Given the description of an element on the screen output the (x, y) to click on. 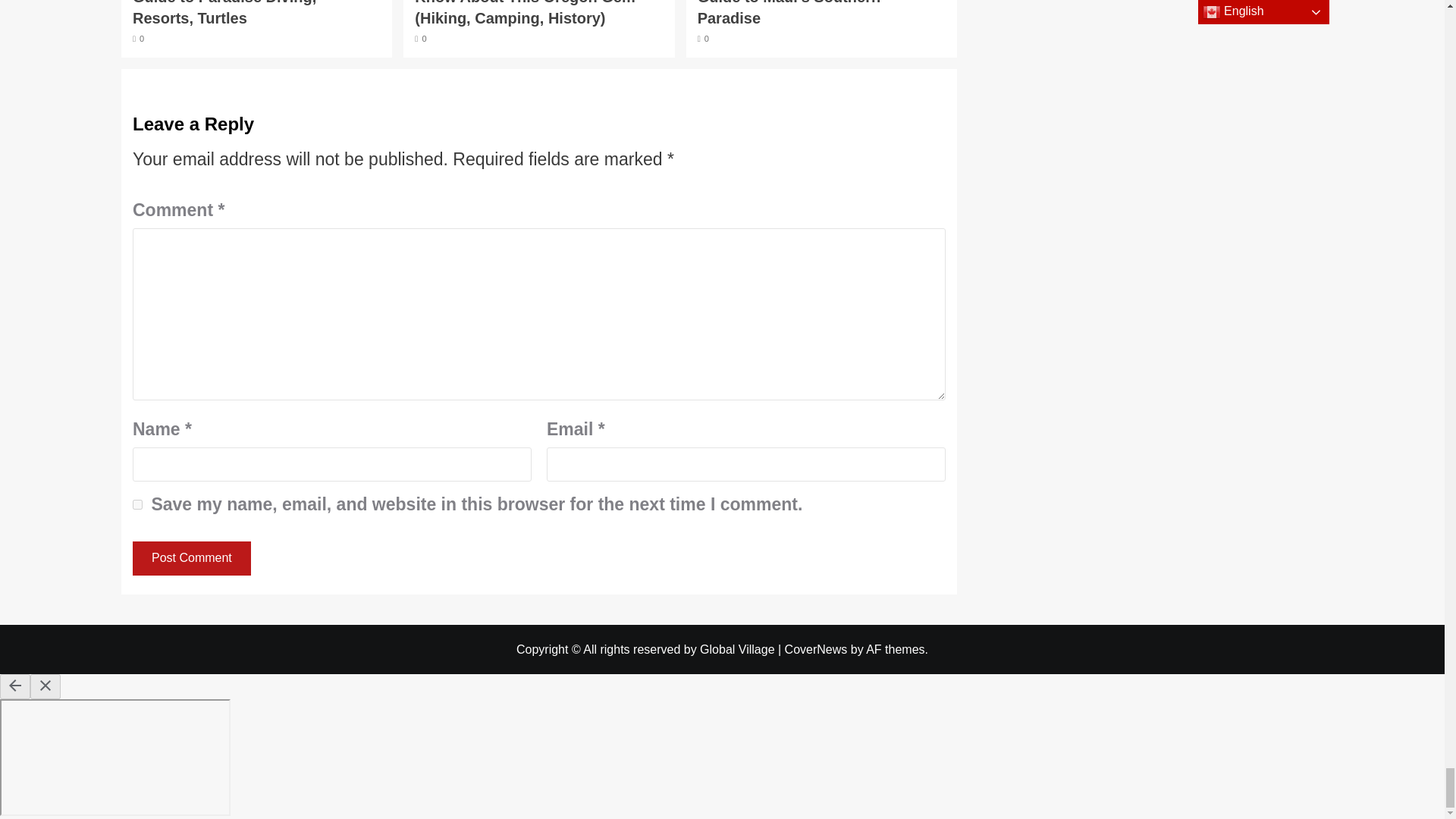
yes (137, 504)
Post Comment (191, 558)
